Given the description of an element on the screen output the (x, y) to click on. 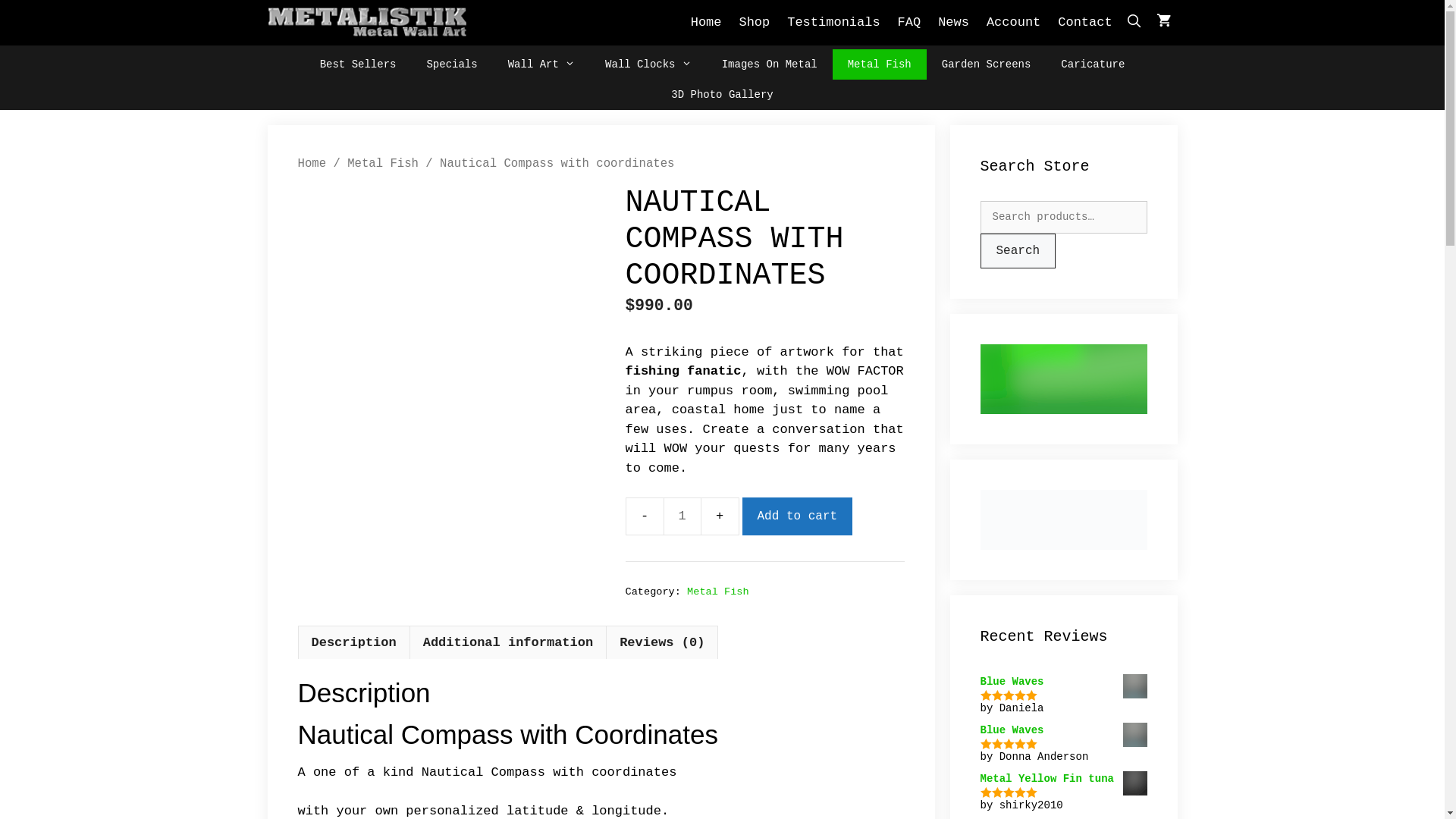
View your shopping cart Element type: hover (1163, 22)
Caricature Element type: text (1092, 64)
Shop Element type: text (753, 22)
Garden Screens Element type: text (986, 64)
Blue Waves Element type: hover (1134, 686)
Metalistik Metal Wall Art Element type: hover (366, 22)
Wall Art Element type: text (540, 64)
FAQ Element type: text (909, 22)
Metal Fish Element type: text (382, 163)
News Element type: text (953, 22)
Testimonials Element type: text (833, 22)
Home Element type: text (706, 22)
Add to cart Element type: text (796, 516)
Best Sellers Element type: text (357, 64)
Blue Waves Element type: text (1062, 682)
Blue Waves Element type: text (1062, 730)
Wall Clocks Element type: text (647, 64)
Contact Element type: text (1084, 22)
Images On Metal Element type: text (769, 64)
Home Element type: text (311, 163)
Additional information Element type: text (508, 642)
Specials Element type: text (451, 64)
Description Element type: text (352, 642)
Metal Yellow Fin tuna Element type: hover (1134, 783)
Metal Fish Element type: text (879, 64)
Metal Fish Element type: text (718, 591)
Reviews (0) Element type: text (661, 642)
3D Photo Gallery Element type: text (721, 94)
Search Element type: text (1017, 250)
Metal Yellow Fin tuna Element type: text (1062, 779)
Account Element type: text (1013, 22)
Blue Waves Element type: hover (1134, 734)
